Given the description of an element on the screen output the (x, y) to click on. 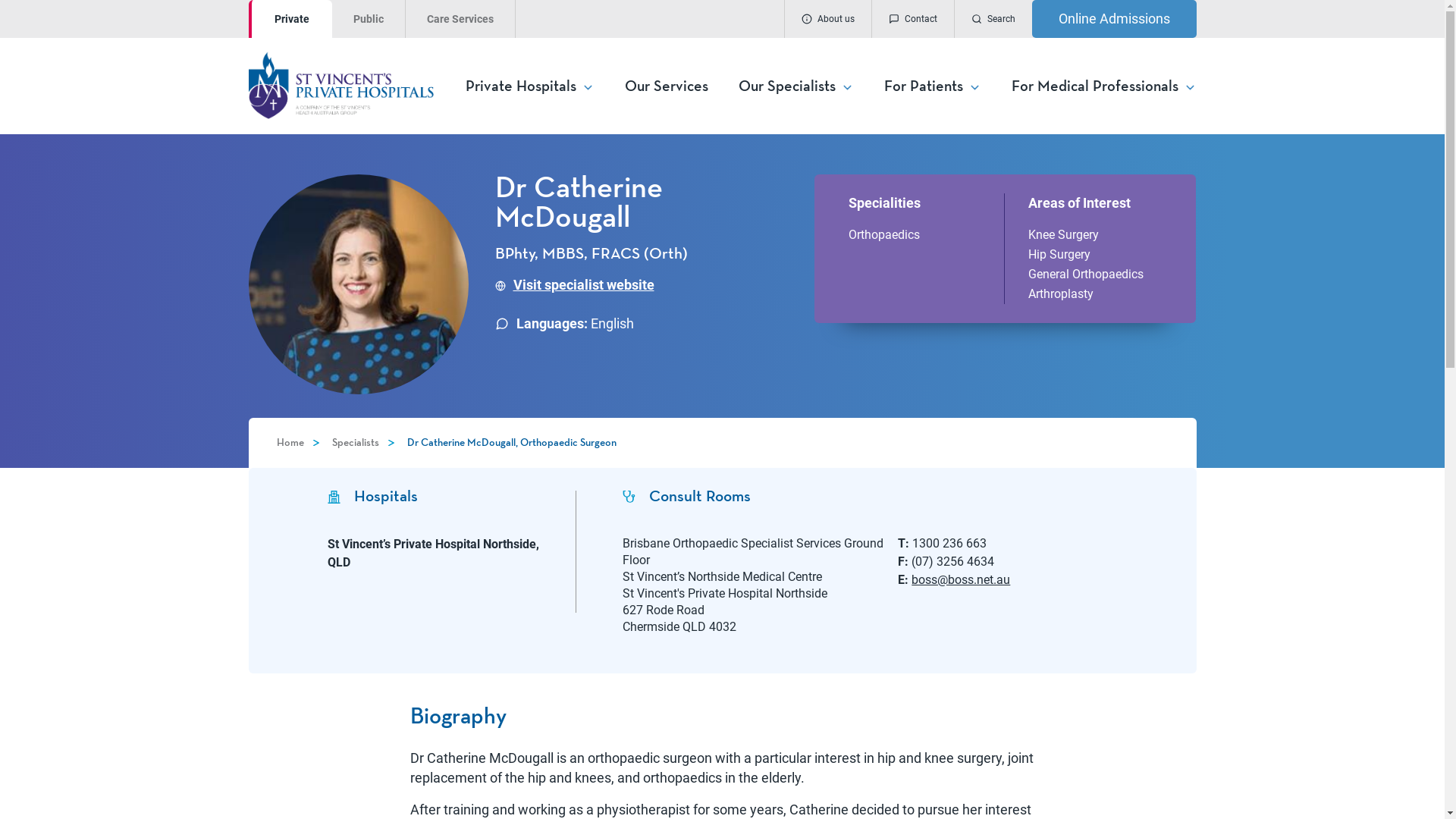
Contact Element type: text (911, 18)
For Medical Professionals Element type: text (1103, 85)
Consult Rooms Element type: text (897, 496)
Care Services Element type: text (459, 18)
Our Services Element type: text (666, 85)
Hospitals Element type: text (440, 496)
Visit specialist website Element type: text (573, 284)
Home Element type: text (289, 442)
Private Hospitals Element type: text (529, 85)
About us Element type: text (827, 18)
For Patients Element type: text (932, 85)
Private Element type: text (290, 18)
Search Element type: text (992, 18)
St Vincents Private Hospitals Element type: text (356, 85)
Online Admissions Element type: text (1113, 18)
Public Element type: text (368, 18)
boss@boss.net.au Element type: text (960, 579)
Specialists Element type: text (355, 442)
Our Specialists Element type: text (795, 85)
